Given the description of an element on the screen output the (x, y) to click on. 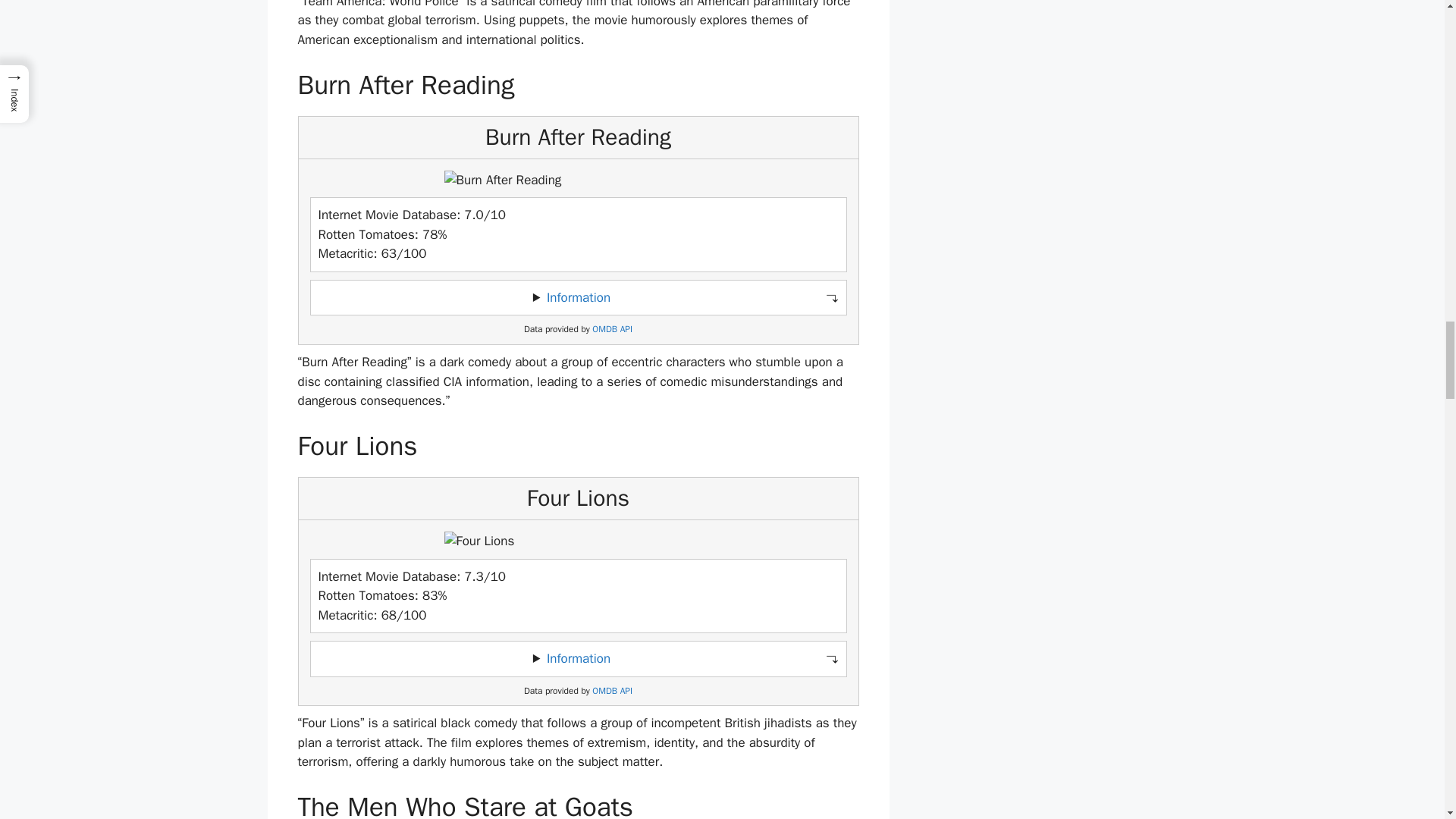
Information (578, 658)
OMDB API (611, 328)
OMDB API (611, 690)
Information (578, 297)
